Given the description of an element on the screen output the (x, y) to click on. 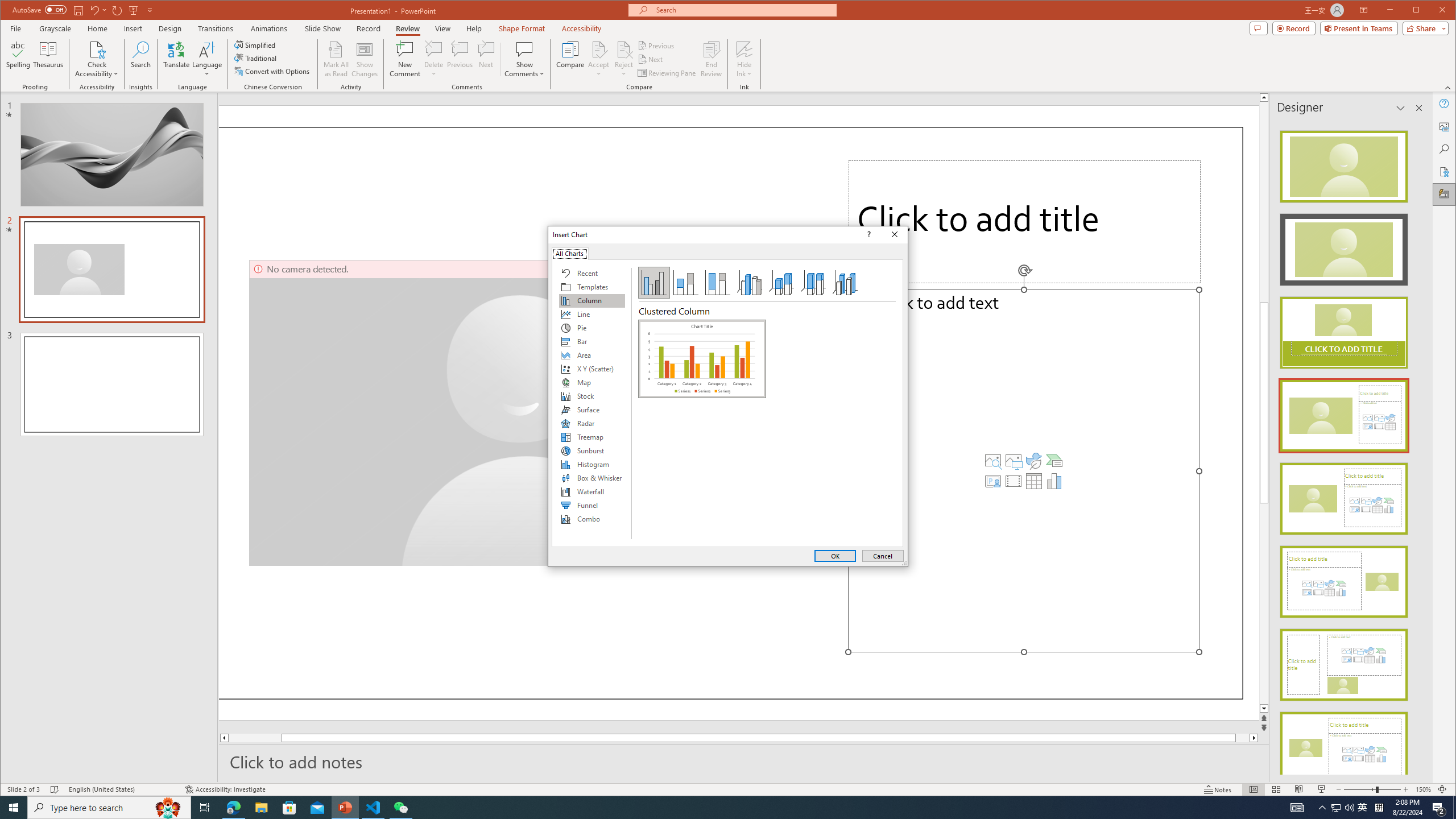
Radar (591, 423)
All Charts (569, 253)
Box & Whisker (591, 477)
Stock Images (992, 460)
Clustered Column (701, 358)
OK (834, 555)
Language (207, 59)
